Given the description of an element on the screen output the (x, y) to click on. 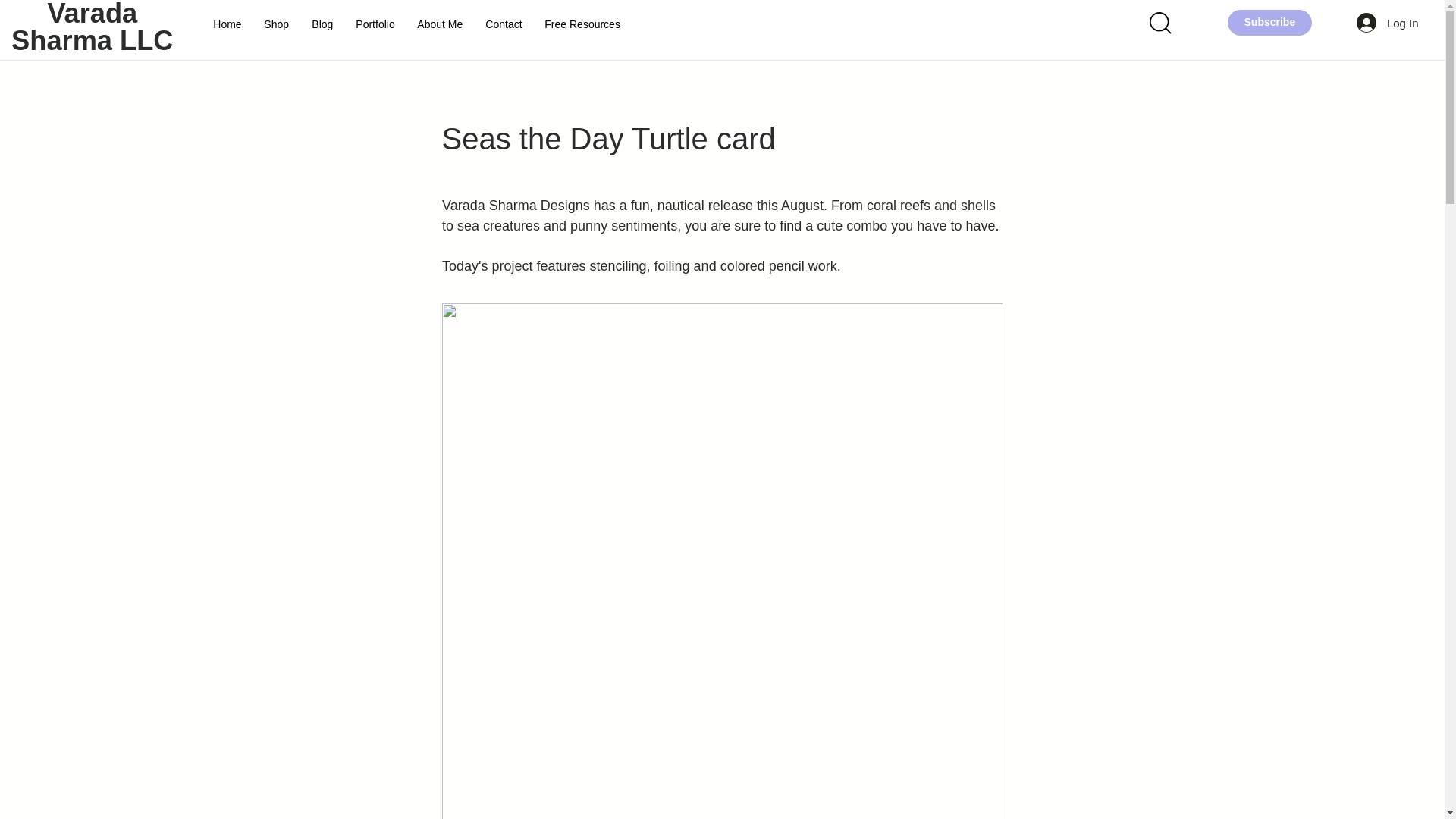
Free Resources (581, 24)
Blog (321, 24)
Portfolio (374, 24)
Home (226, 24)
Log In (1387, 22)
About Me (440, 24)
Shop (275, 24)
Contact (503, 24)
Subscribe (1270, 22)
